Given the description of an element on the screen output the (x, y) to click on. 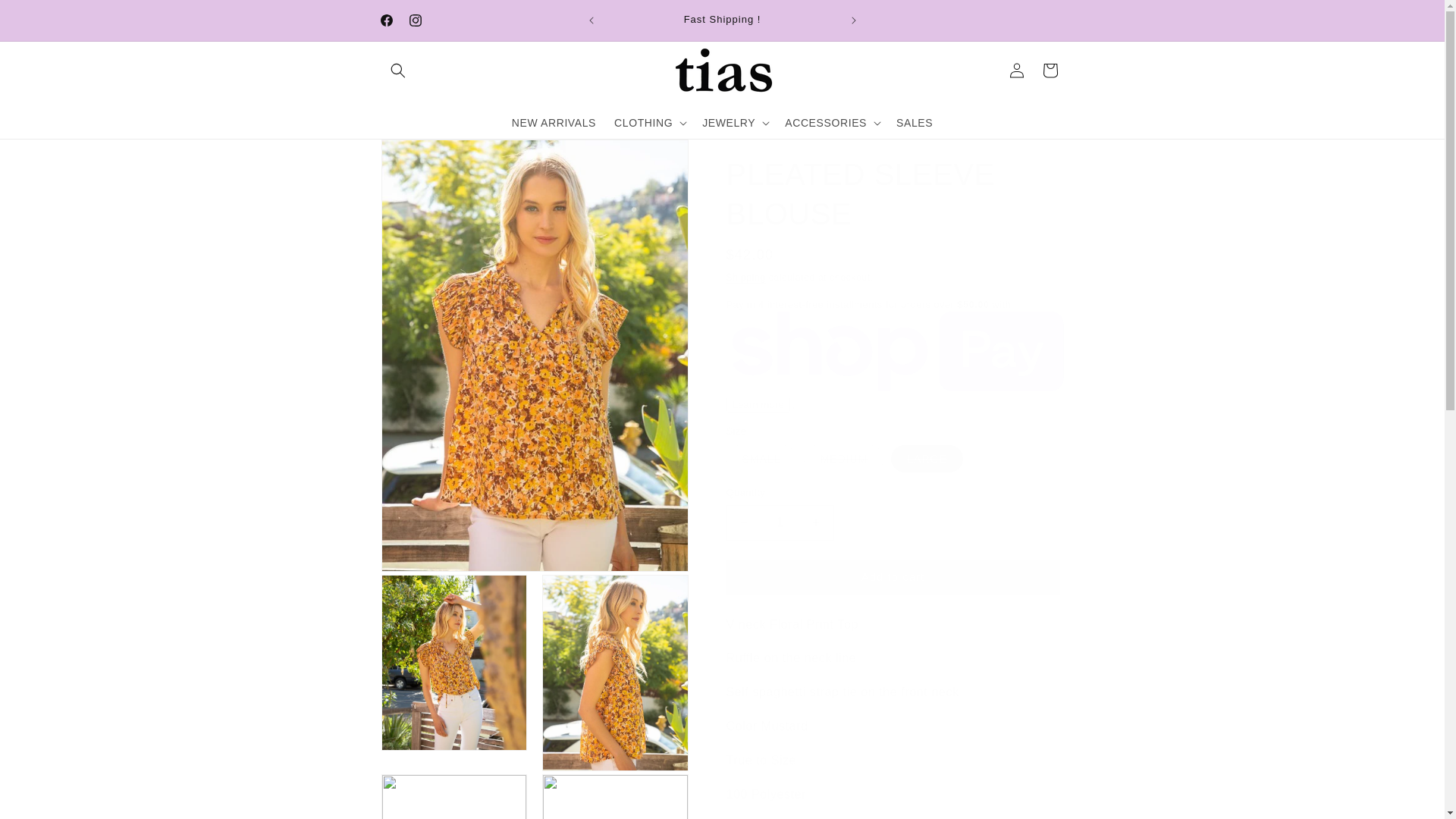
1 (780, 522)
Skip to content (45, 17)
Open media 4 in modal (453, 796)
Facebook (385, 20)
Instagram (414, 20)
NEW ARRIVALS (553, 122)
Open media 5 in modal (614, 796)
